Given the description of an element on the screen output the (x, y) to click on. 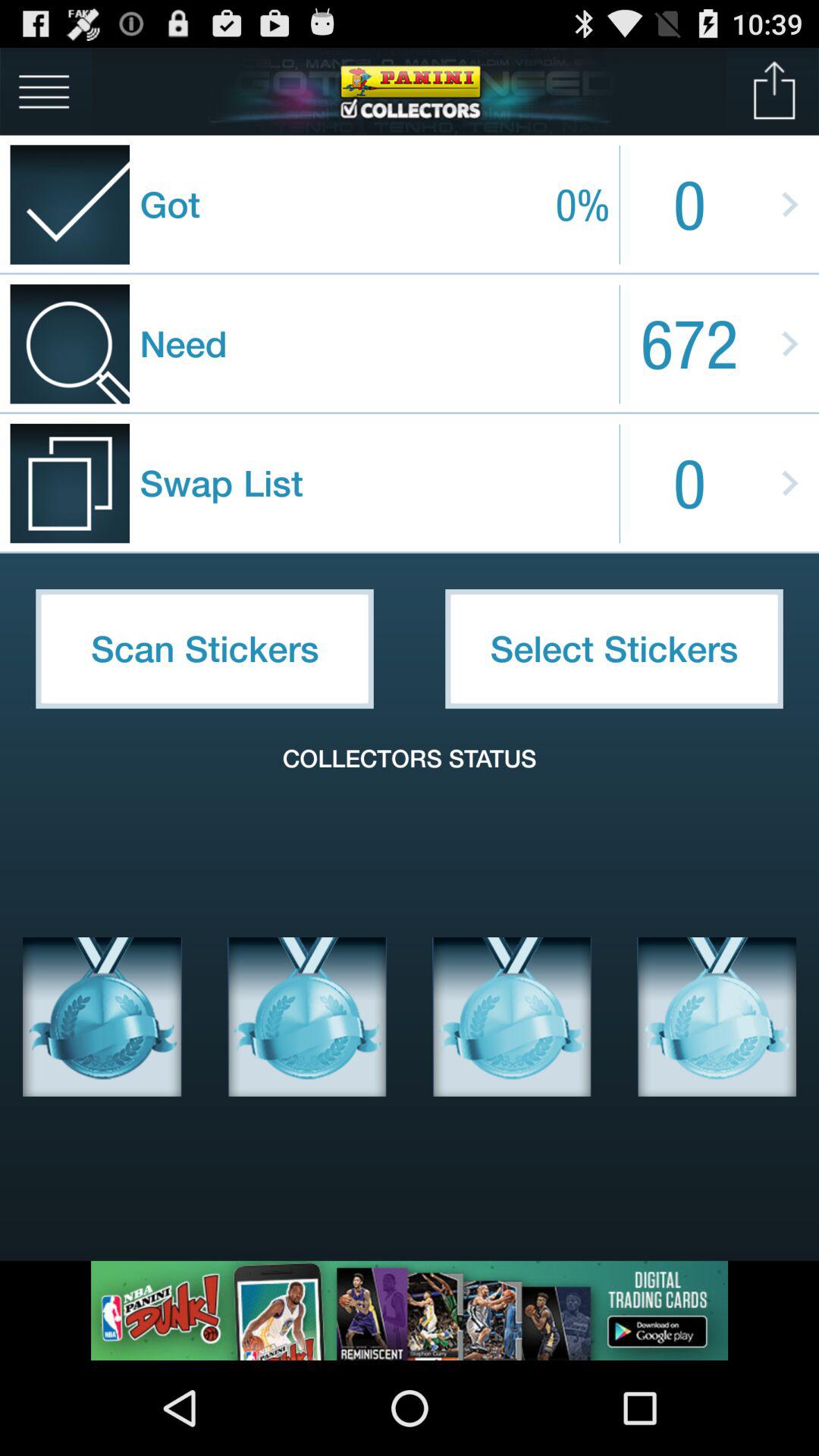
launch the item on the left (204, 648)
